Given the description of an element on the screen output the (x, y) to click on. 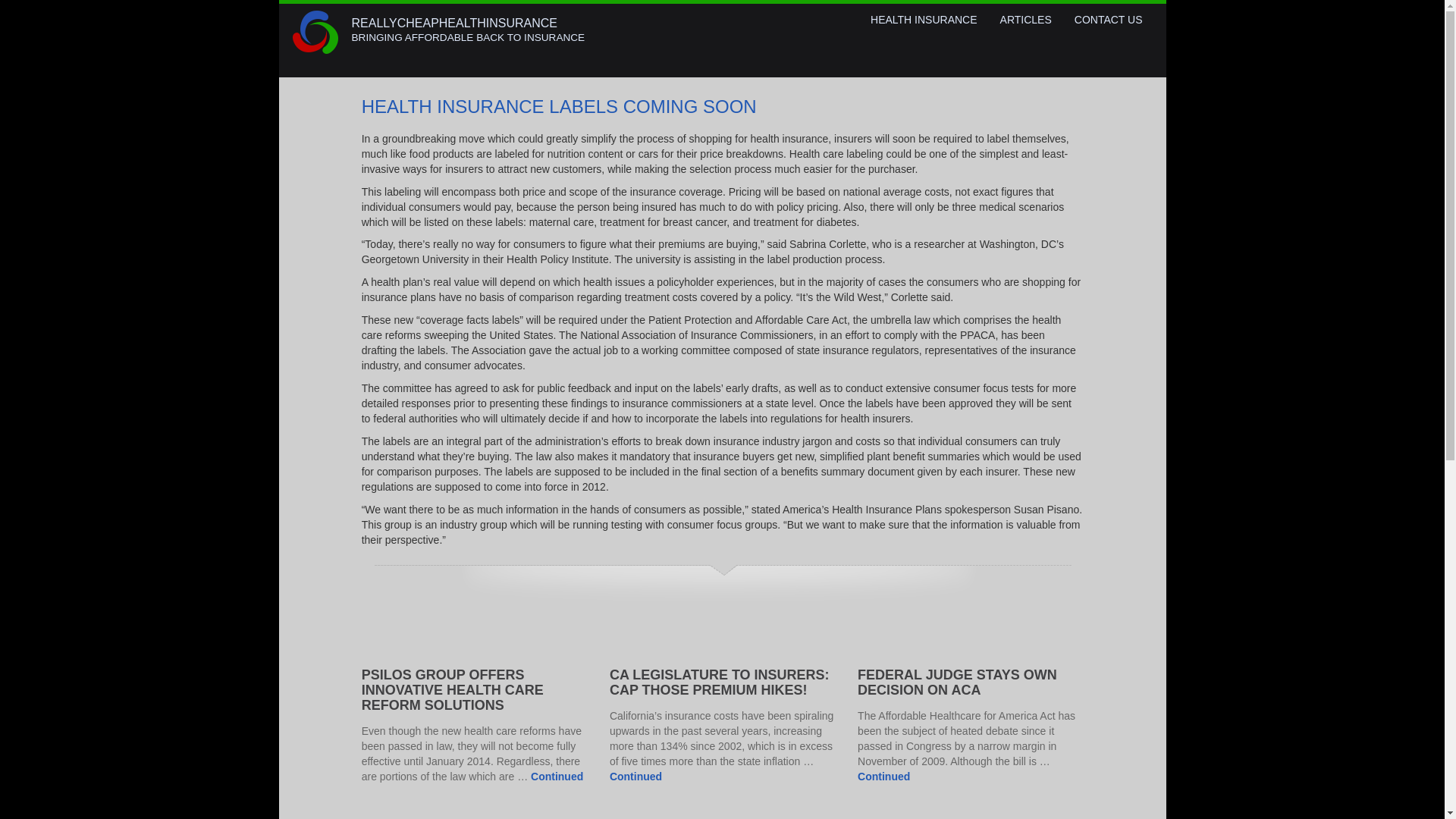
PSILOS GROUP OFFERS INNOVATIVE HEALTH CARE REFORM SOLUTIONS (452, 689)
Continued (557, 776)
HEALTH INSURANCE (923, 19)
Continued (636, 776)
CONTACT US (1108, 19)
CA LEGISLATURE TO INSURERS: CAP THOSE PREMIUM HIKES! (719, 682)
Continued (883, 776)
ARTICLES (1025, 19)
FEDERAL JUDGE STAYS OWN DECISION ON ACA (957, 682)
